Given the description of an element on the screen output the (x, y) to click on. 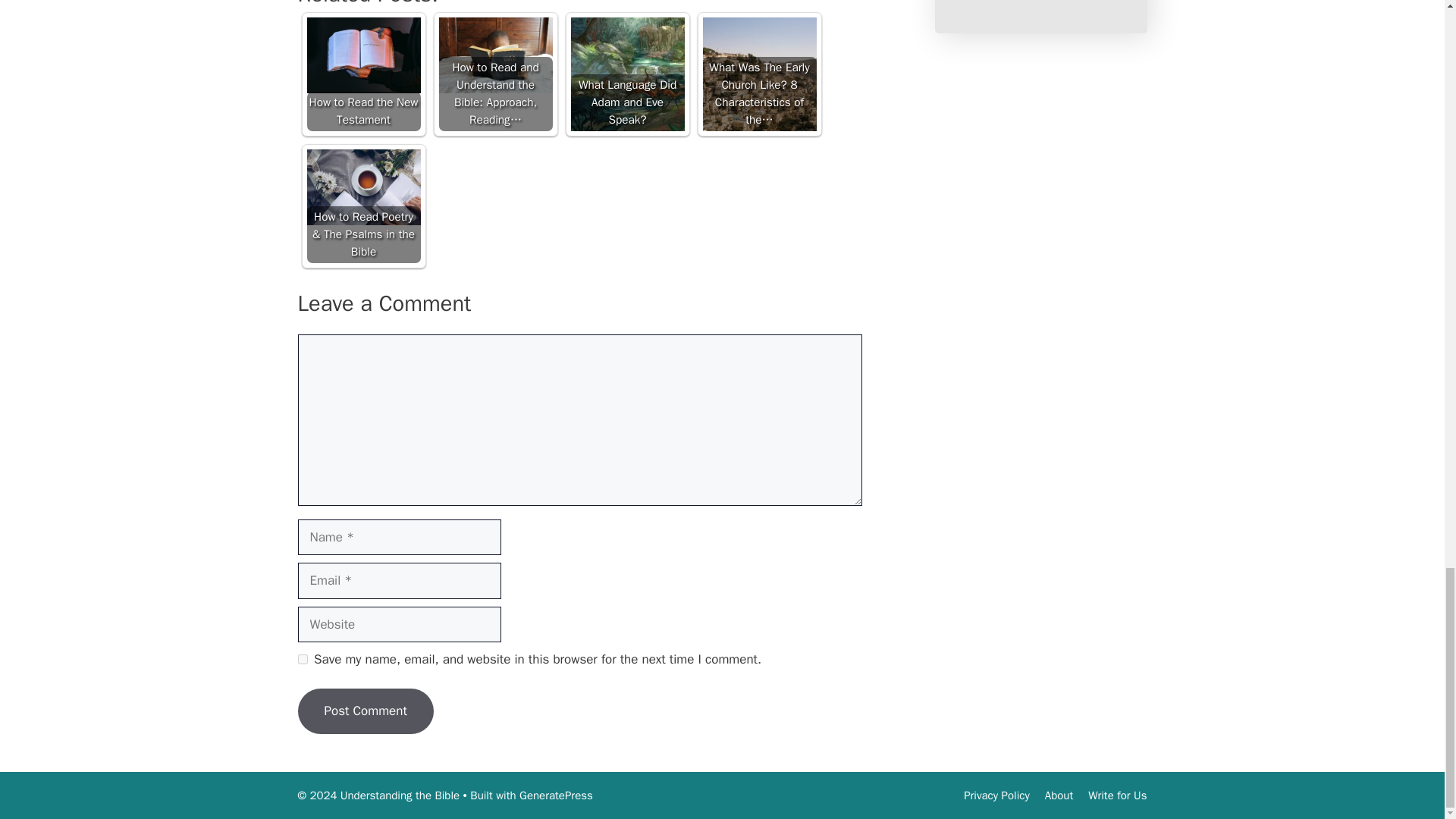
yes (302, 659)
Post Comment (364, 710)
How to Read the New Testament (362, 74)
How to Read the New Testament (362, 55)
What Language Did Adam and Eve Speak? (627, 74)
